Given the description of an element on the screen output the (x, y) to click on. 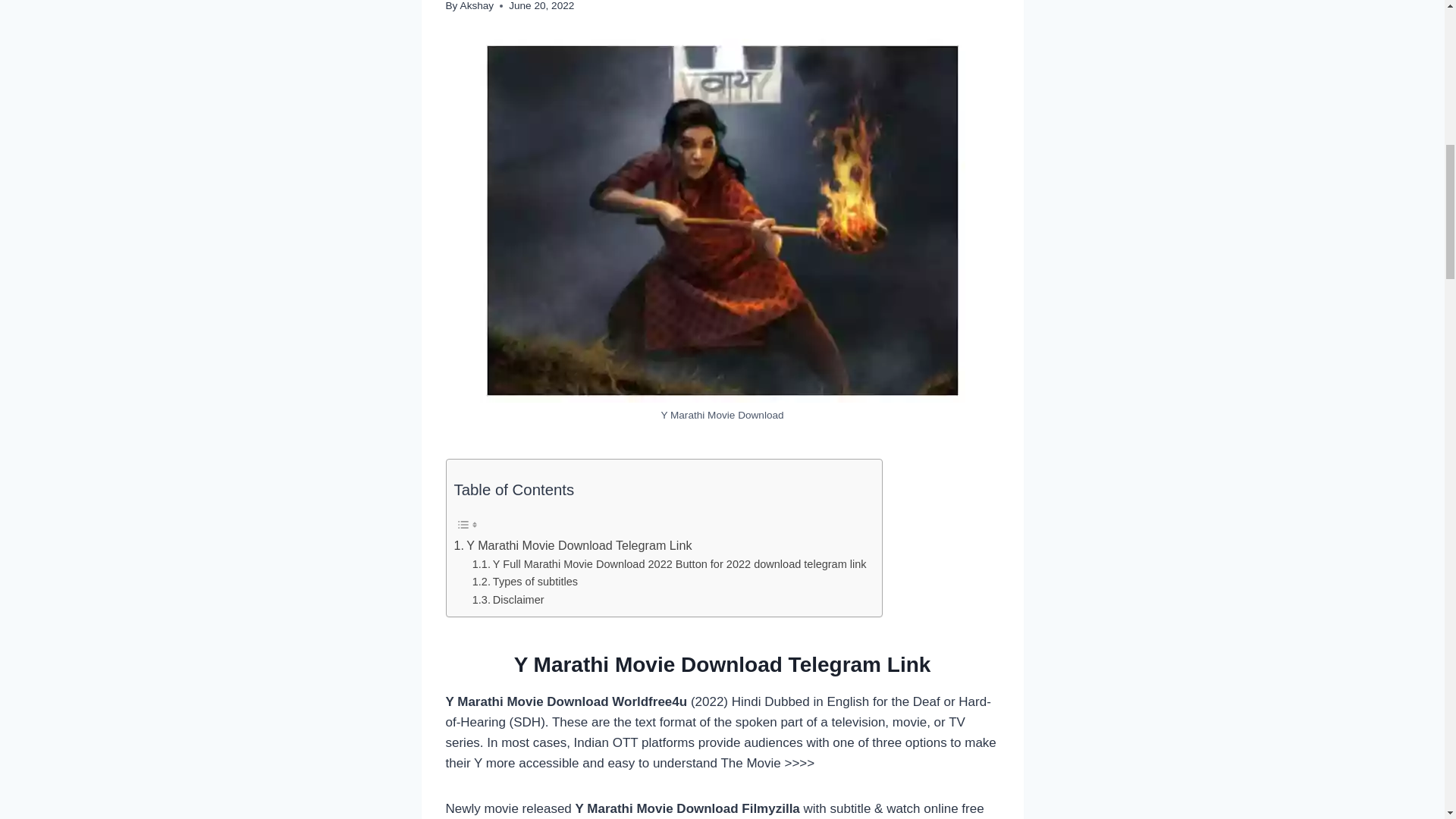
Disclaimer (507, 600)
Y Marathi Movie Download Telegram Link (571, 546)
Types of subtitles (524, 581)
Types of subtitles (524, 581)
Akshay (477, 5)
Y Marathi Movie Download Telegram Link (571, 546)
Disclaimer (507, 600)
